Given the description of an element on the screen output the (x, y) to click on. 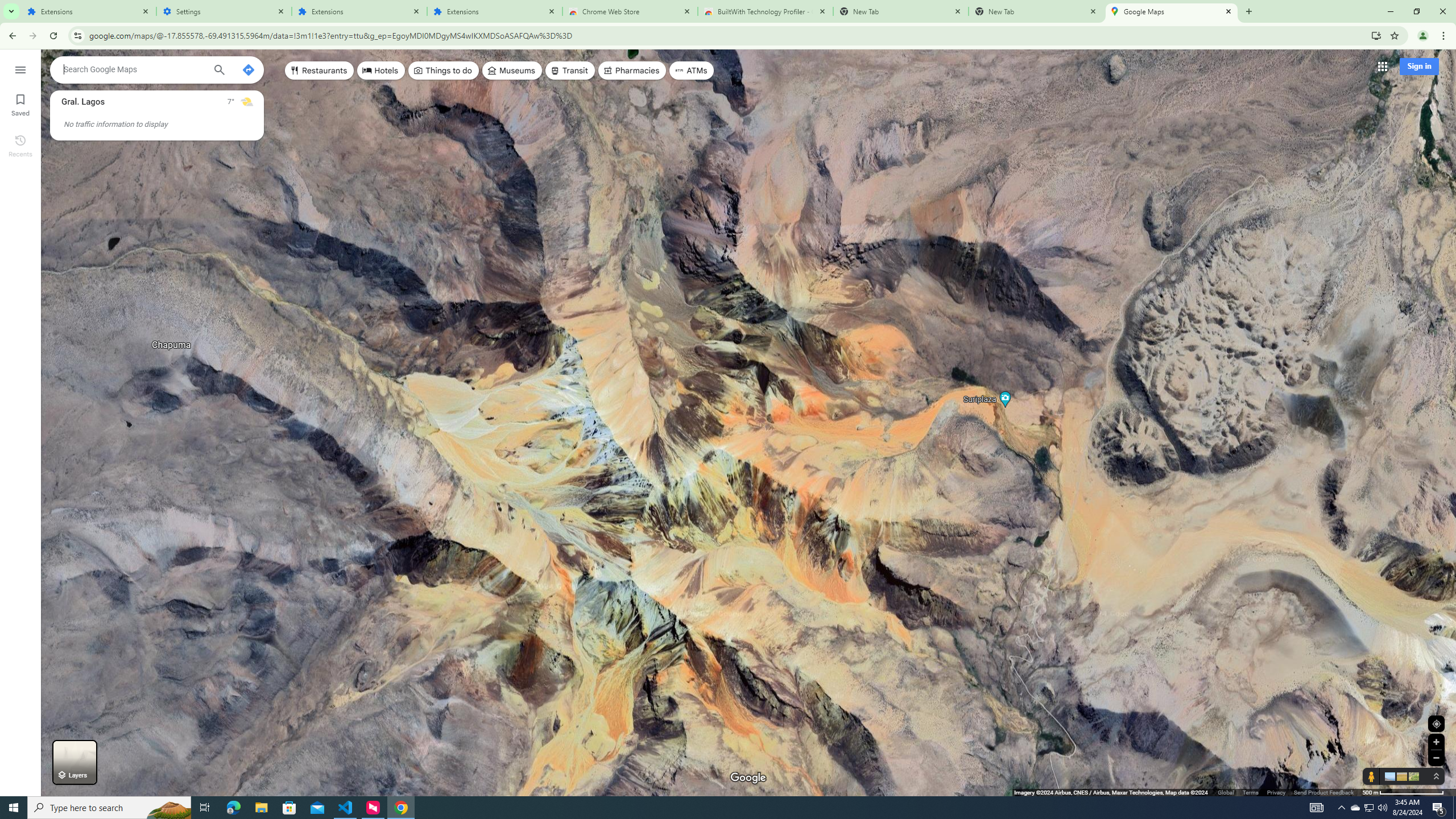
Directions (247, 69)
Menu (20, 68)
ATMs (691, 70)
Send Product Feedback (1324, 792)
500 m (1403, 792)
Partly cloudy (246, 101)
Zoom out (1436, 757)
Show imagery (1412, 776)
